Given the description of an element on the screen output the (x, y) to click on. 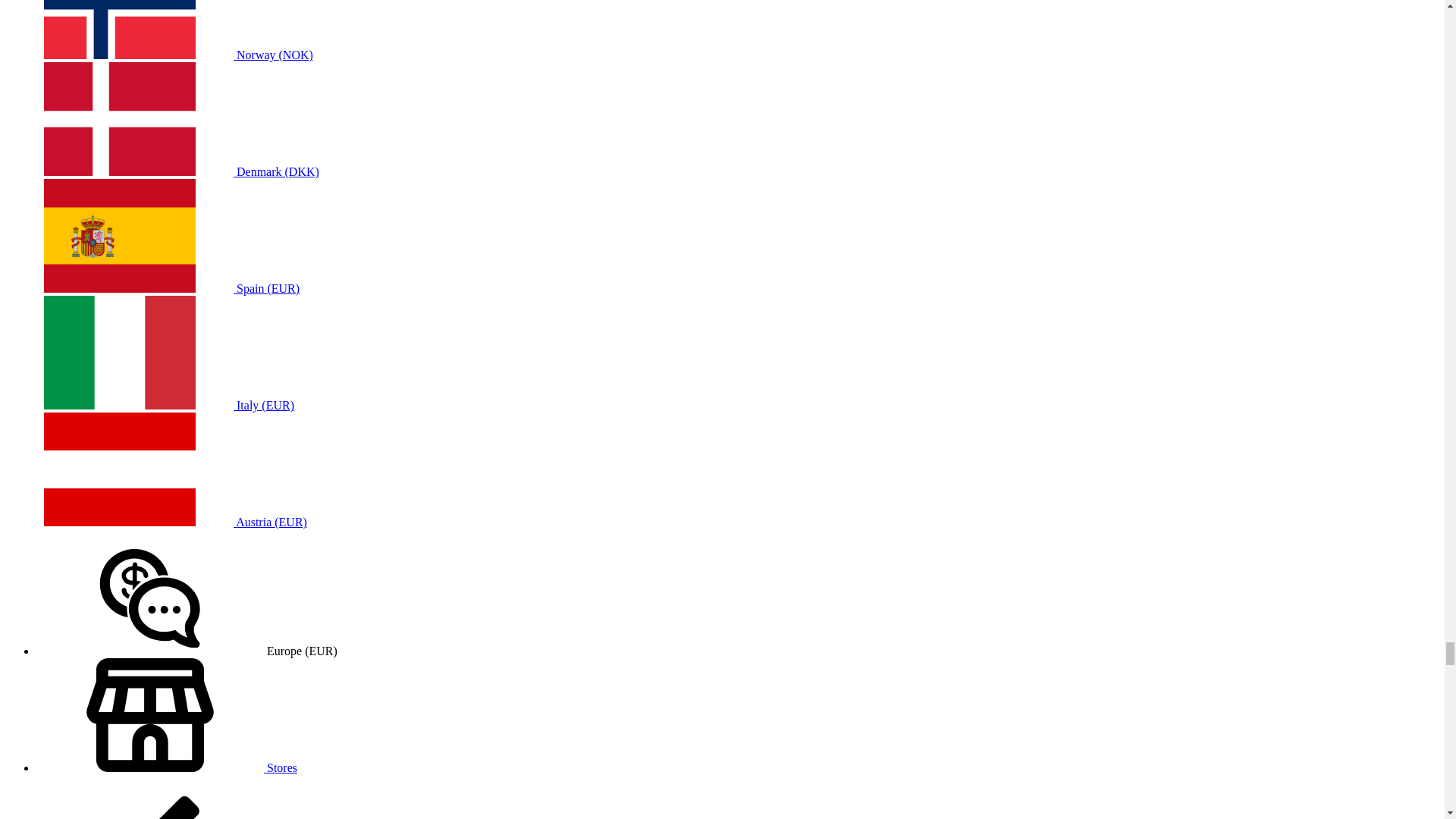
Stores (166, 767)
